Given the description of an element on the screen output the (x, y) to click on. 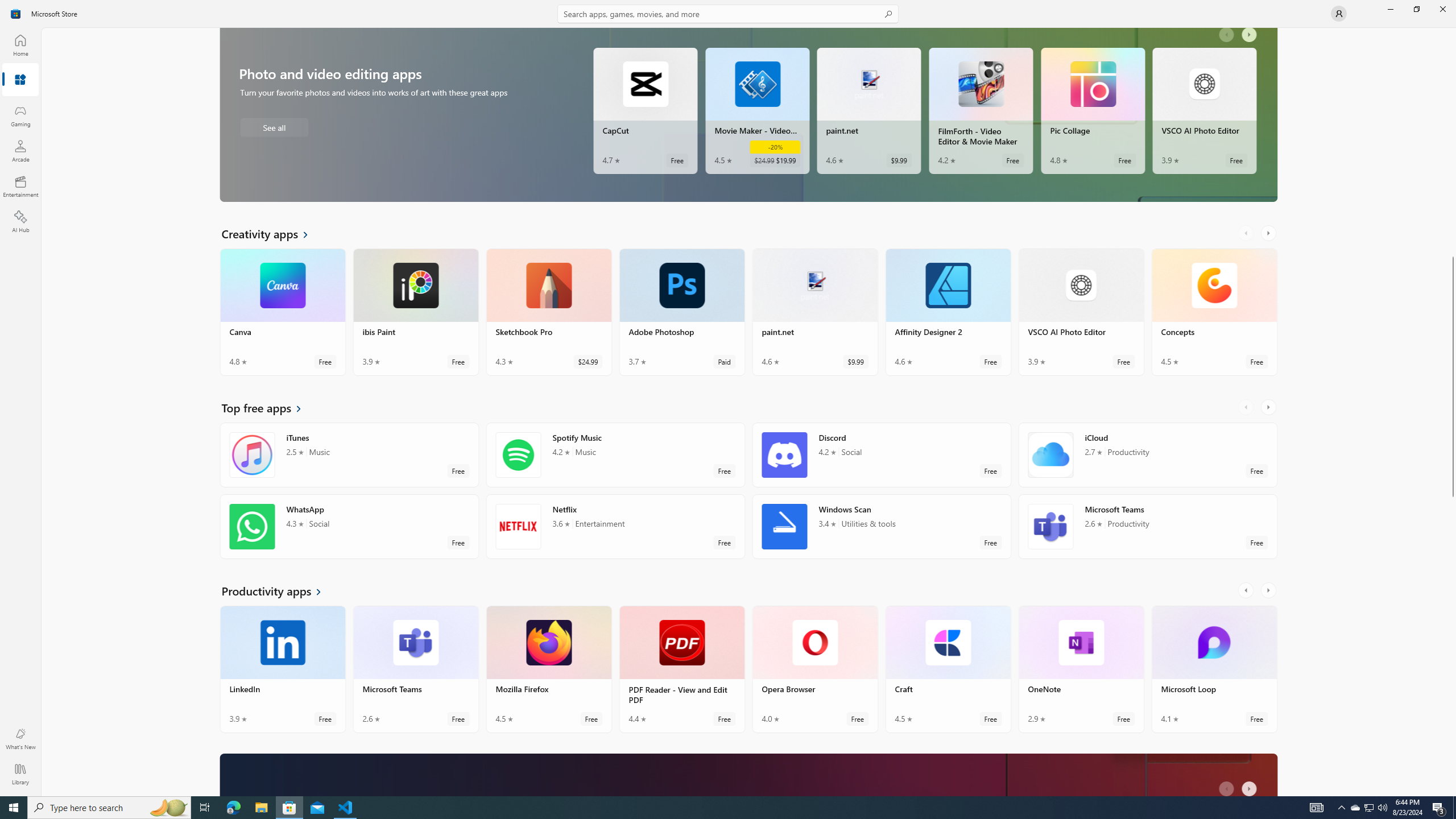
LinkedIn. Average rating of 3.9 out of five stars. Free   (282, 669)
What's New (20, 738)
Library (20, 773)
Minimize Microsoft Store (1390, 9)
Vertical Large Decrease (1452, 144)
Apps (20, 80)
Concepts. Average rating of 4.5 out of five stars. Free   (1213, 311)
See all  Creativity apps (271, 233)
See all  Top free apps (268, 407)
Search (727, 13)
